Given the description of an element on the screen output the (x, y) to click on. 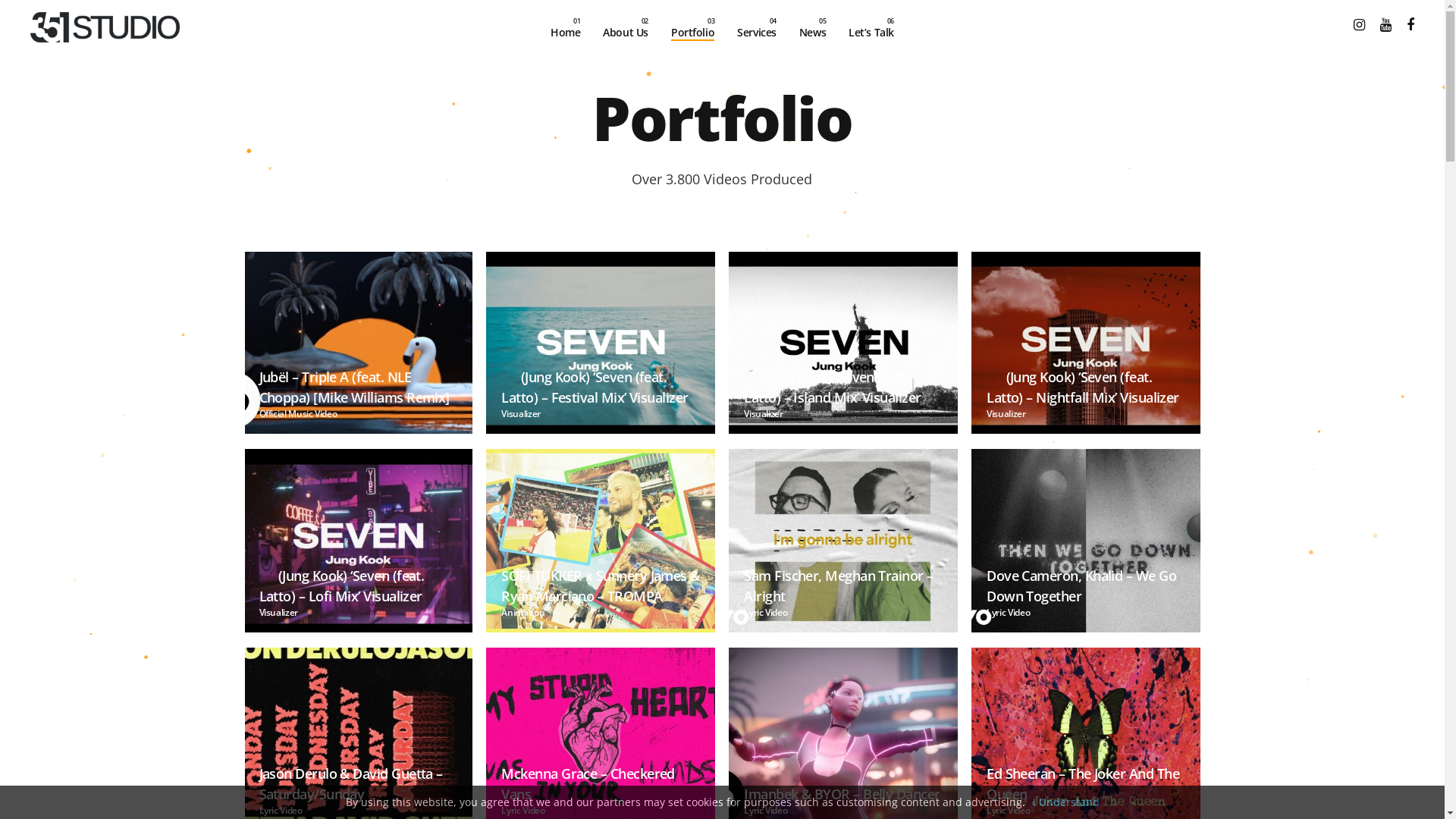
News Element type: text (812, 26)
About Us Element type: text (625, 26)
Portfolio Element type: text (692, 26)
Services Element type: text (756, 26)
I Understand Element type: text (1065, 801)
Home Element type: text (565, 26)
